Given the description of an element on the screen output the (x, y) to click on. 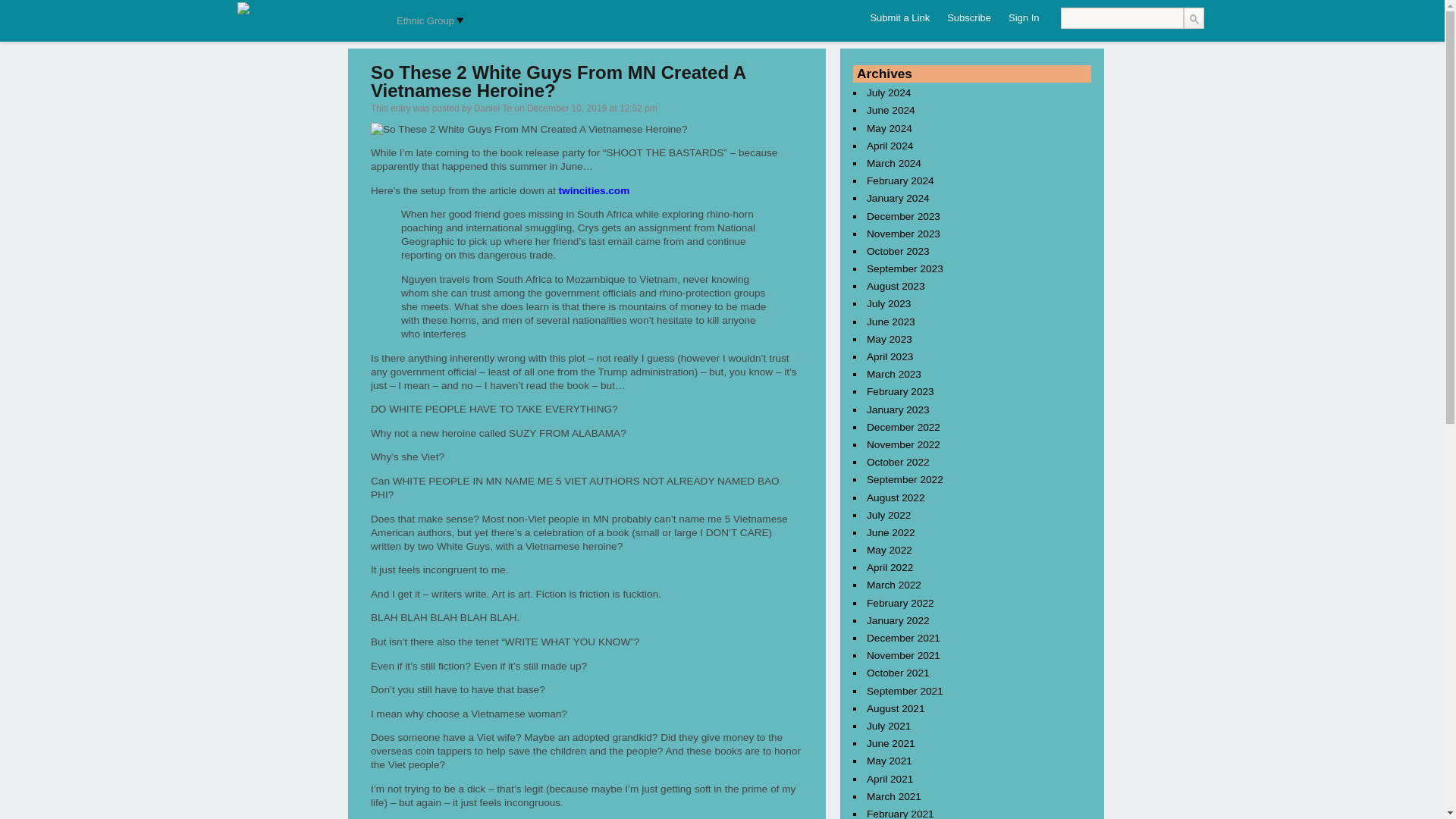
December 2023 (903, 215)
Ethnic Group (426, 20)
February 2024 (900, 180)
July 2024 (888, 92)
Sign In (1024, 17)
April 2024 (889, 145)
November 2023 (903, 233)
October 2023 (897, 251)
So These 2 White Guys From MN Created A Vietnamese Heroine? (529, 129)
June 2024 (890, 109)
Ethnic Group (426, 20)
June 2023 (890, 321)
May 2023 (889, 339)
Submit a Link (899, 17)
August 2023 (895, 286)
